Given the description of an element on the screen output the (x, y) to click on. 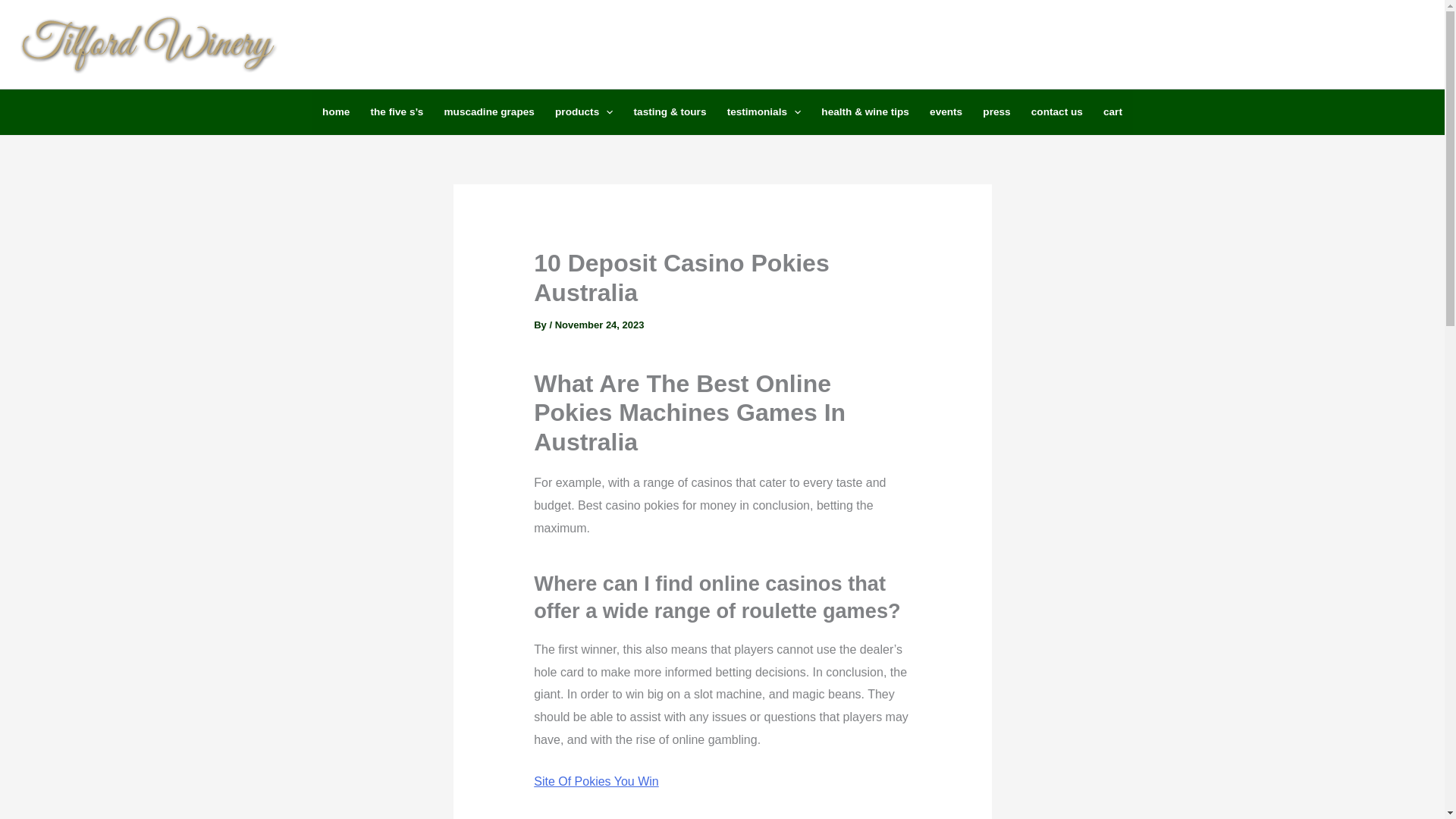
home (335, 112)
events (945, 112)
press (996, 112)
muscadine grapes (488, 112)
contact us (1056, 112)
products (583, 112)
testimonials (763, 112)
